Given the description of an element on the screen output the (x, y) to click on. 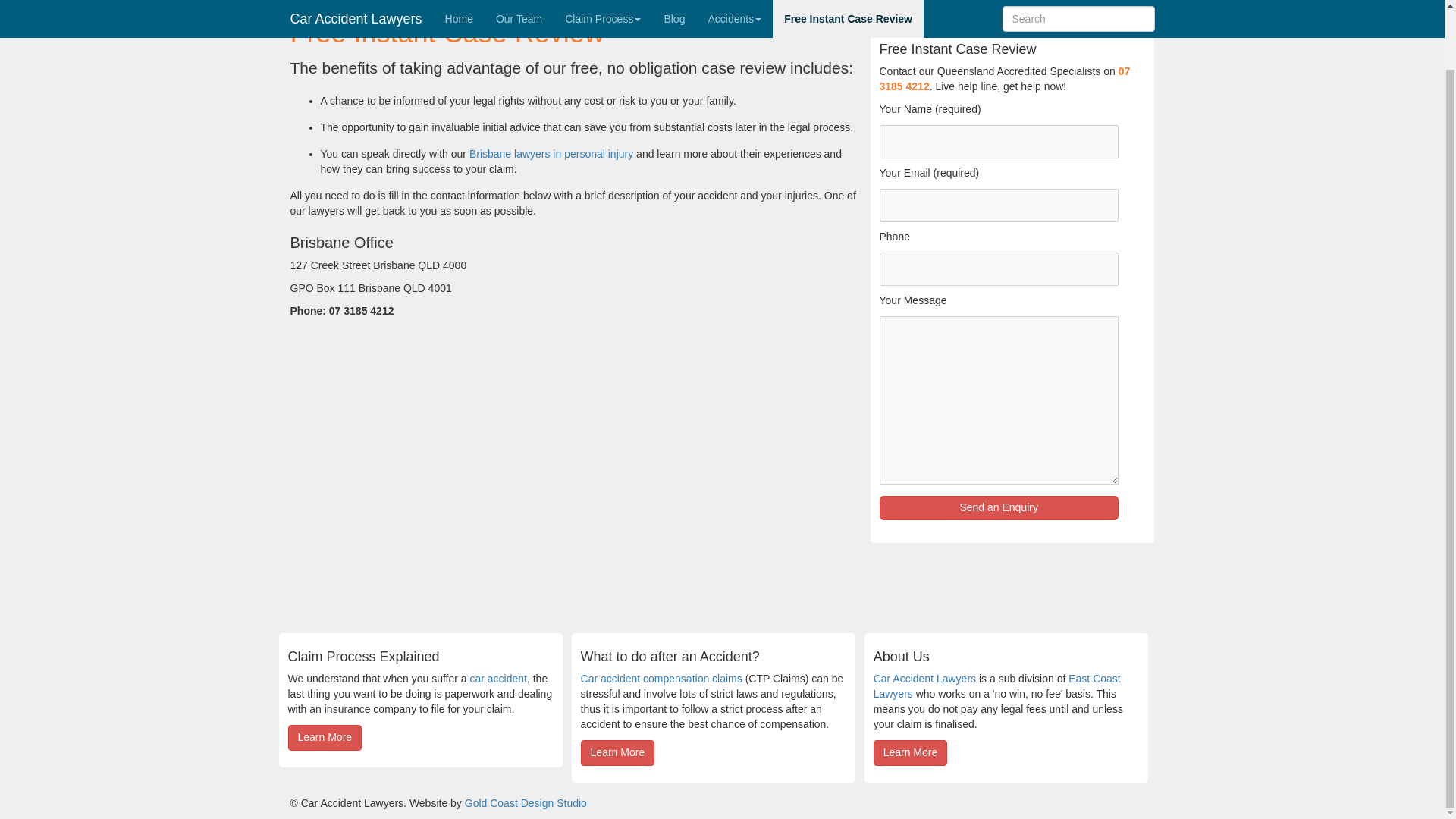
Gold Coast Design Studio (525, 802)
Car Accident Lawyers (924, 678)
Send an Enquiry (998, 508)
Car accident compensation claims (661, 678)
Brisbane lawyers in personal injury (550, 153)
Send an Enquiry (998, 508)
Learn More (617, 752)
Learn More (325, 737)
Learn More (910, 752)
car accident (496, 678)
